Given the description of an element on the screen output the (x, y) to click on. 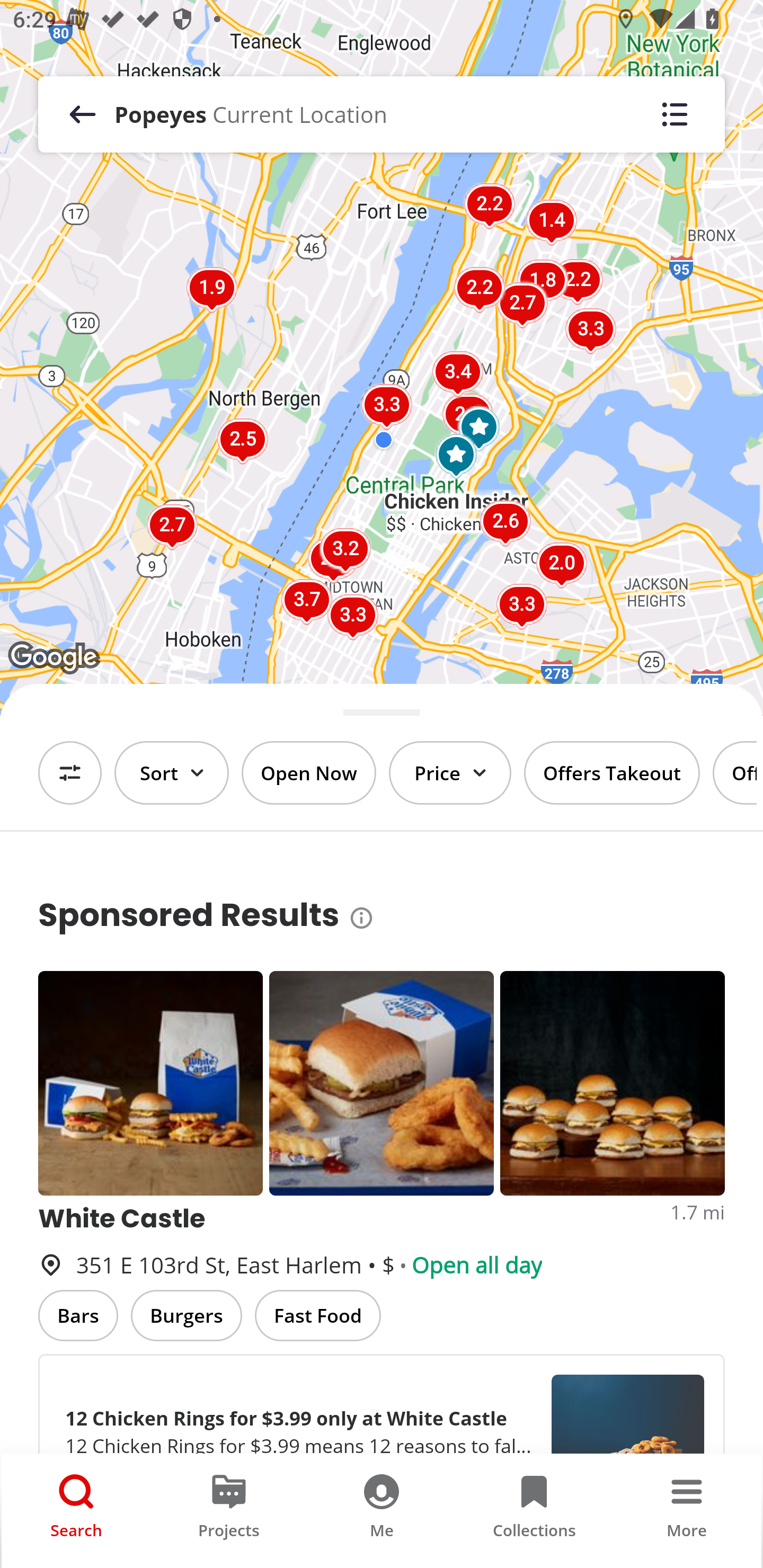
Sort (171, 772)
